Given the description of an element on the screen output the (x, y) to click on. 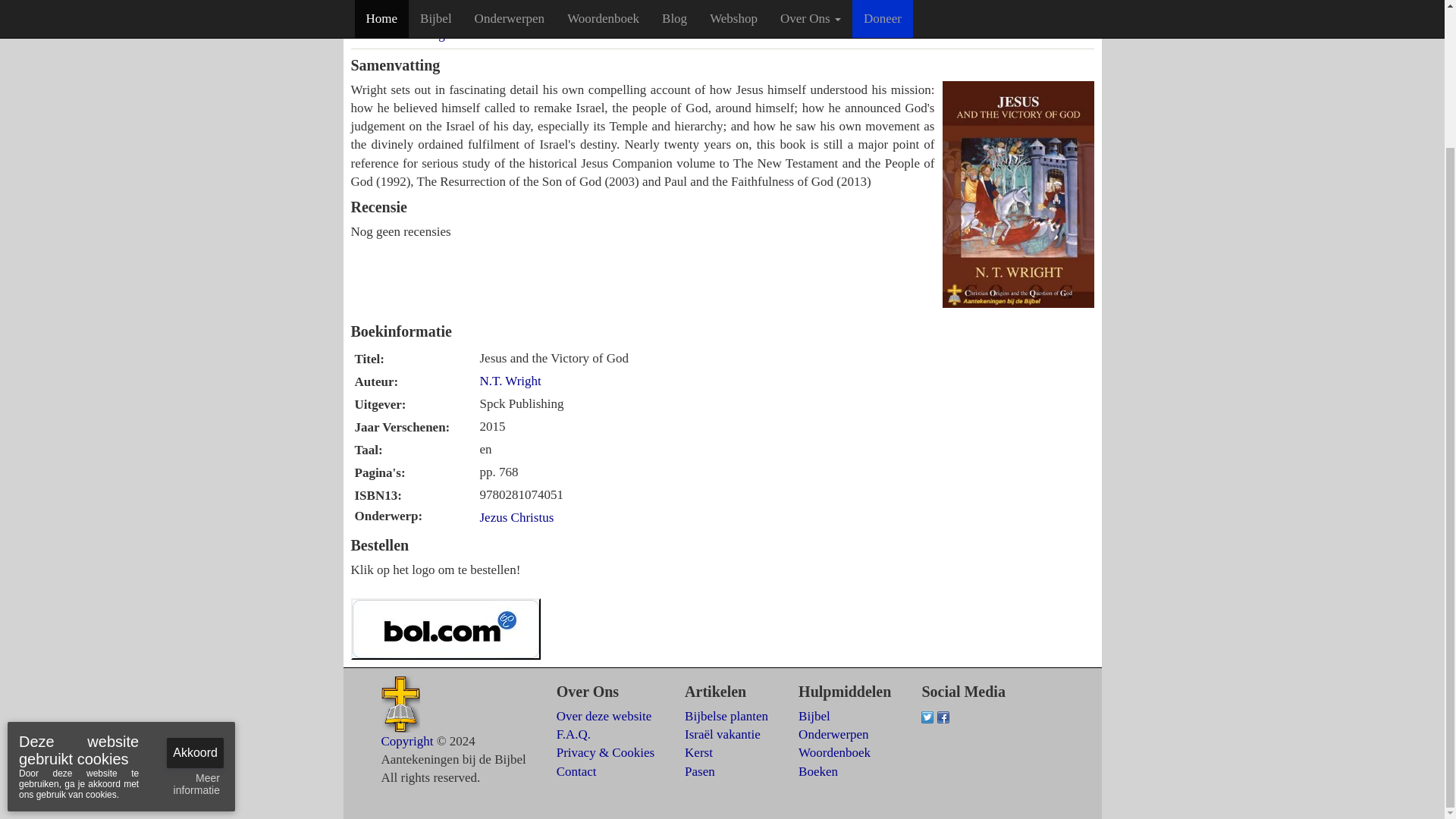
Zoeken (1058, 6)
Meer informatie (190, 613)
Zoeken (1058, 6)
Boeken (817, 771)
Copyright (406, 740)
F.A.Q. (573, 734)
N.T. Wright (423, 34)
Over deze website (604, 716)
Onderwerpen (833, 734)
N.T. Wright (509, 380)
Bijbel (813, 716)
Pasen (699, 771)
Jezus Christus (516, 517)
Akkoord (195, 582)
Contact (576, 771)
